Given the description of an element on the screen output the (x, y) to click on. 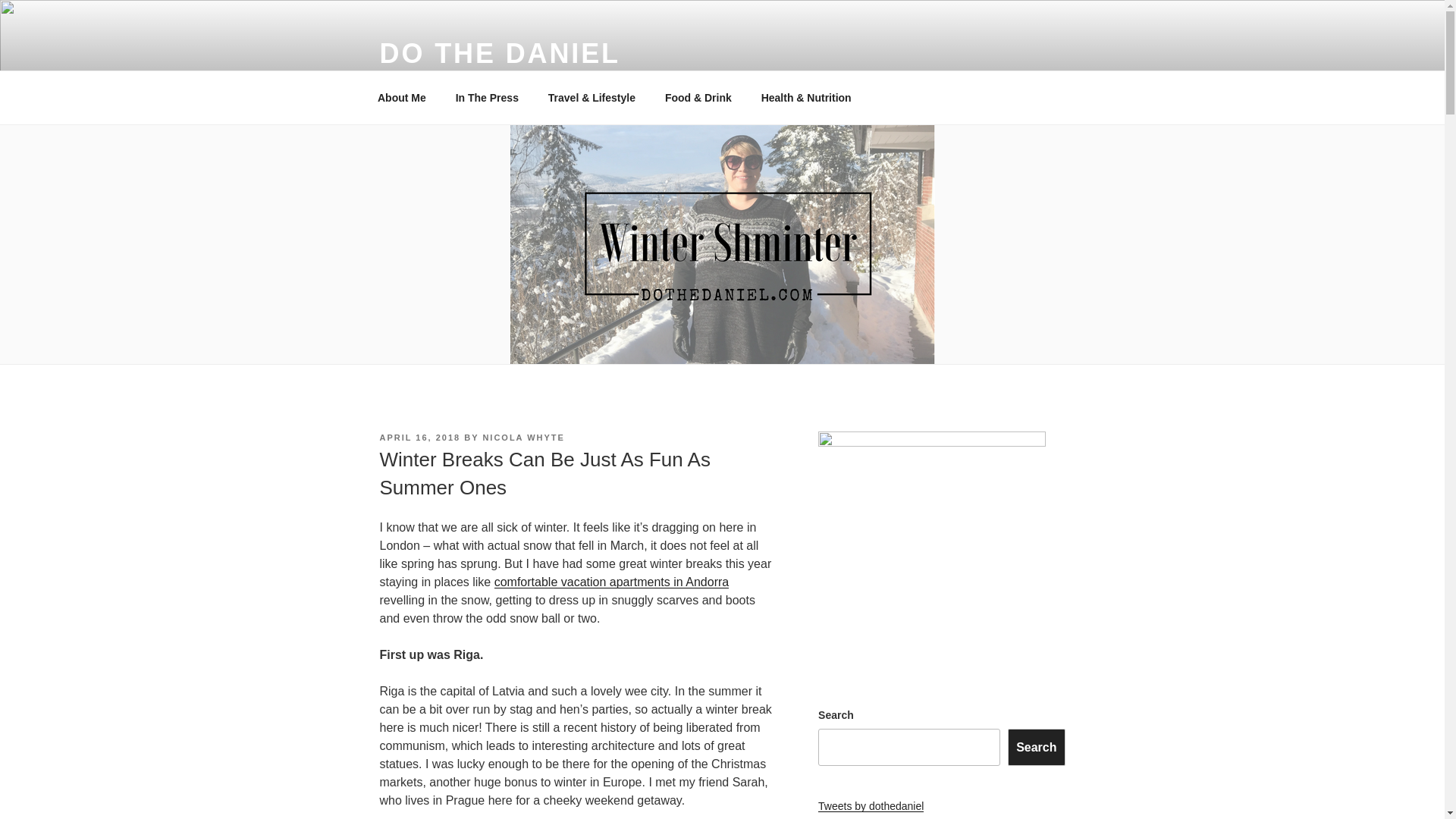
NICOLA WHYTE (522, 437)
In The Press (486, 97)
APRIL 16, 2018 (419, 437)
DO THE DANIEL (499, 52)
comfortable vacation apartments in Andorra (612, 581)
About Me (401, 97)
